Given the description of an element on the screen output the (x, y) to click on. 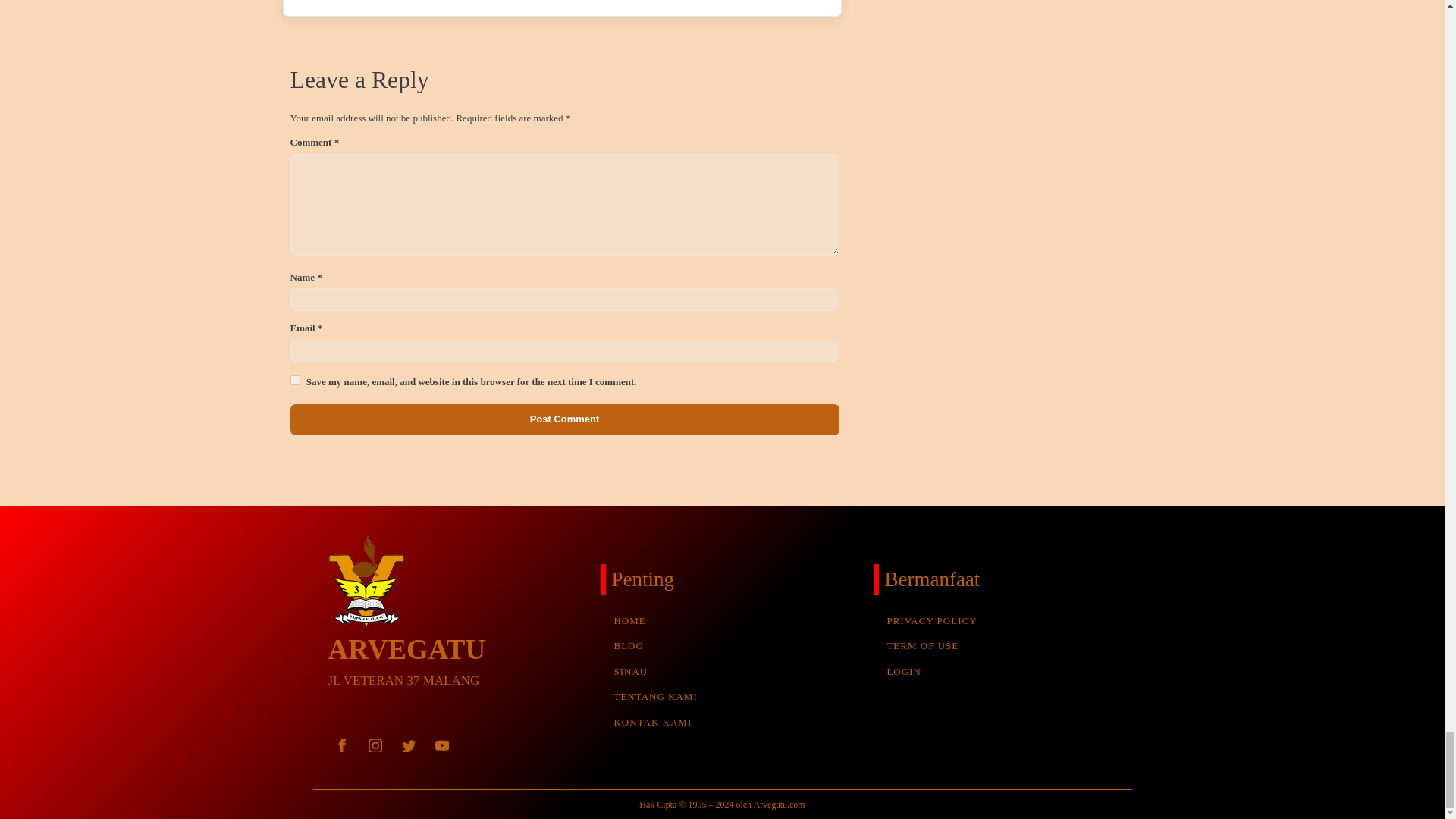
HOME (650, 620)
yes (294, 379)
Post Comment (563, 419)
Post Comment (563, 419)
